Given the description of an element on the screen output the (x, y) to click on. 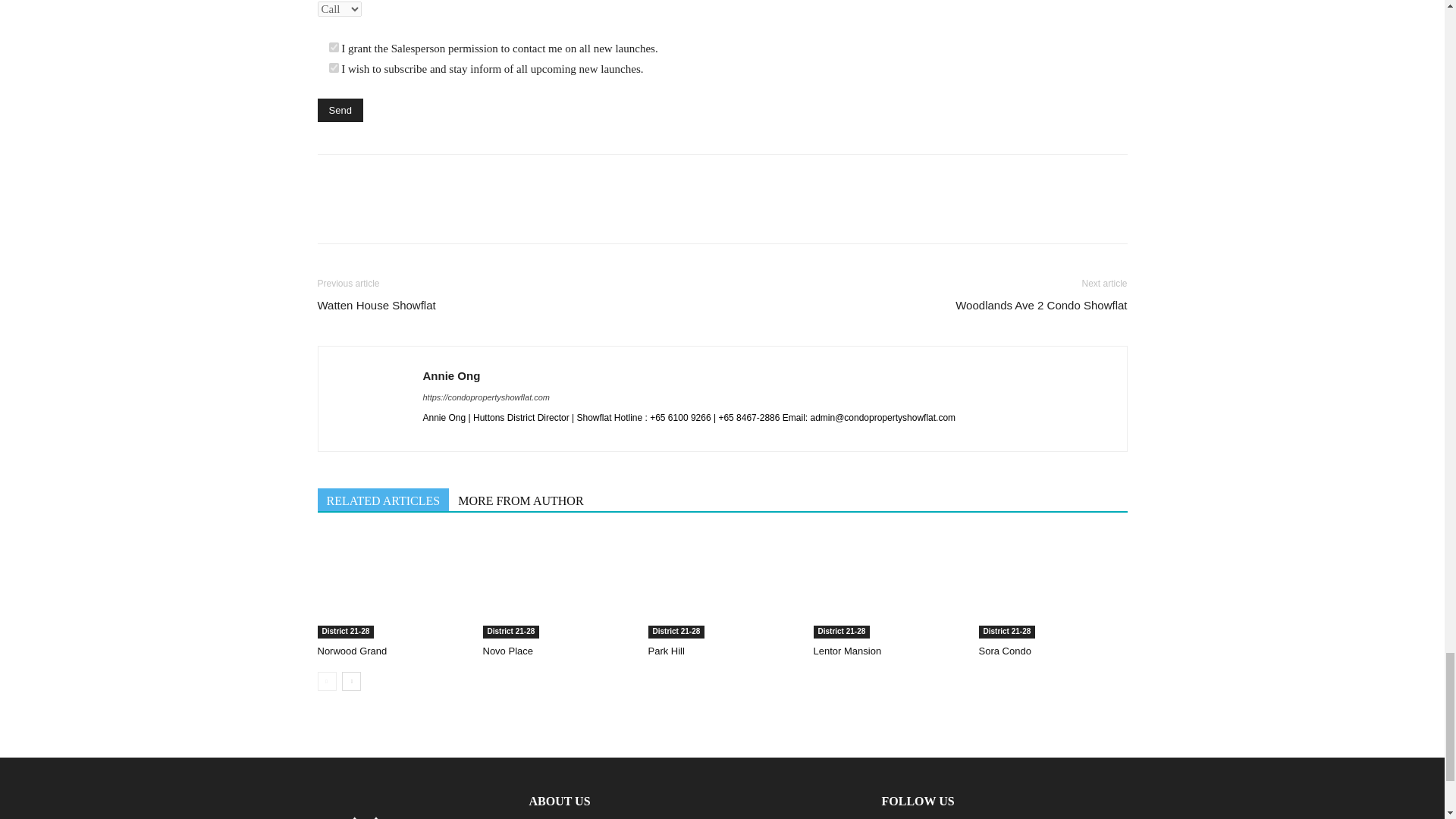
Send (339, 110)
Send (339, 110)
Watten House Showflat (376, 304)
Norwood Grand (391, 585)
